Given the description of an element on the screen output the (x, y) to click on. 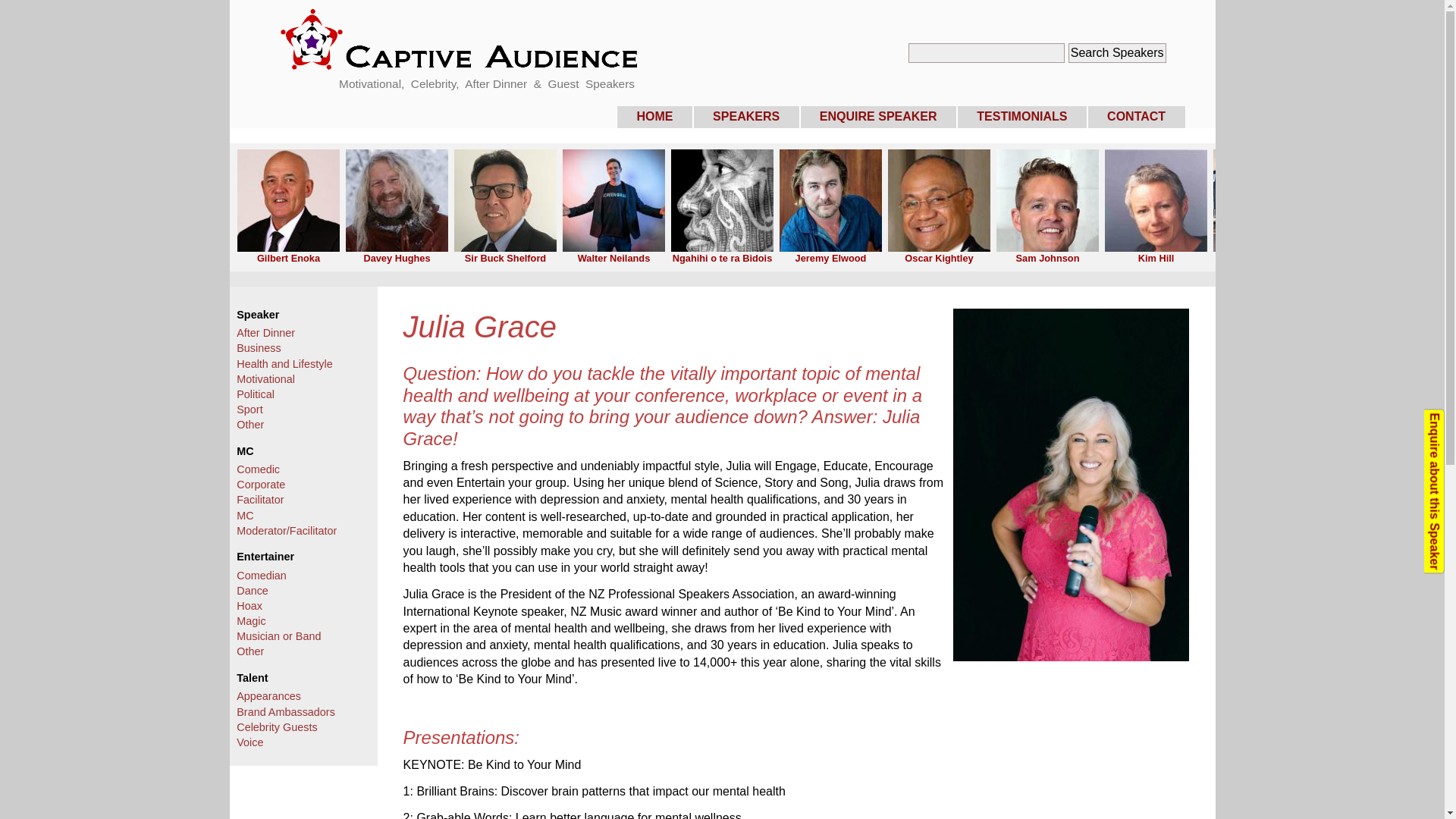
Celebrity Guests (276, 727)
Business (258, 347)
Political (255, 394)
Motivational (265, 378)
Dance (251, 590)
HOME (654, 116)
CONTACT (1136, 116)
Magic (249, 621)
Other (249, 651)
MC (244, 515)
Search Speakers (1117, 53)
Hoax (248, 605)
Search Speakers (1117, 53)
Appearances (268, 695)
